Given the description of an element on the screen output the (x, y) to click on. 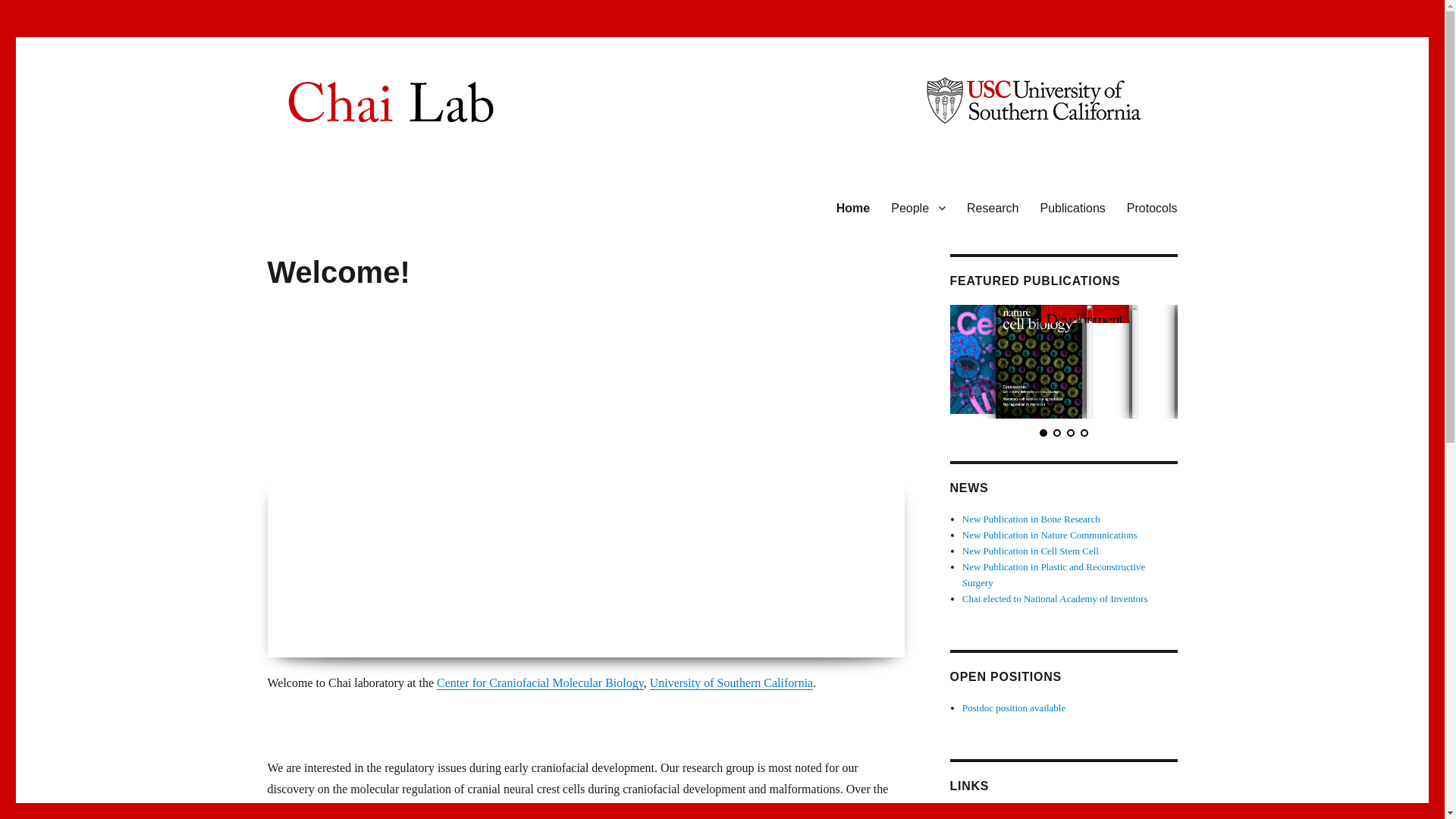
4 (578, 625)
University of Southern California (731, 682)
7 (623, 625)
Chai Lab (311, 205)
Research (992, 207)
Protocols (1152, 207)
Center for Craniofacial Molecular Biology (539, 682)
New Publication in Nature Communications (1049, 534)
2 (547, 625)
5 (592, 625)
New Publication in Bone Research (1031, 518)
Home (852, 207)
New Publication in Cell Stem Cell (1030, 550)
6 (608, 625)
Publications (1072, 207)
